Given the description of an element on the screen output the (x, y) to click on. 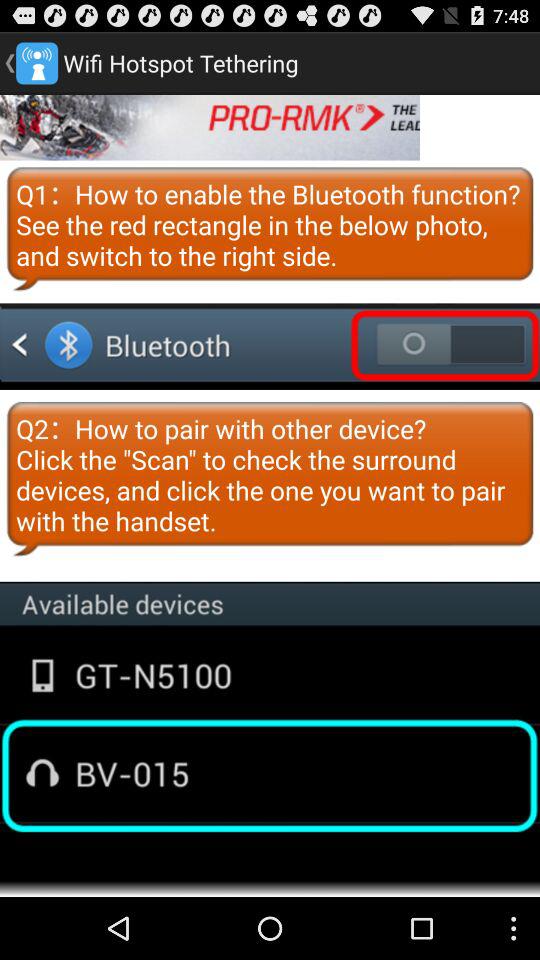
advertisement (210, 127)
